Given the description of an element on the screen output the (x, y) to click on. 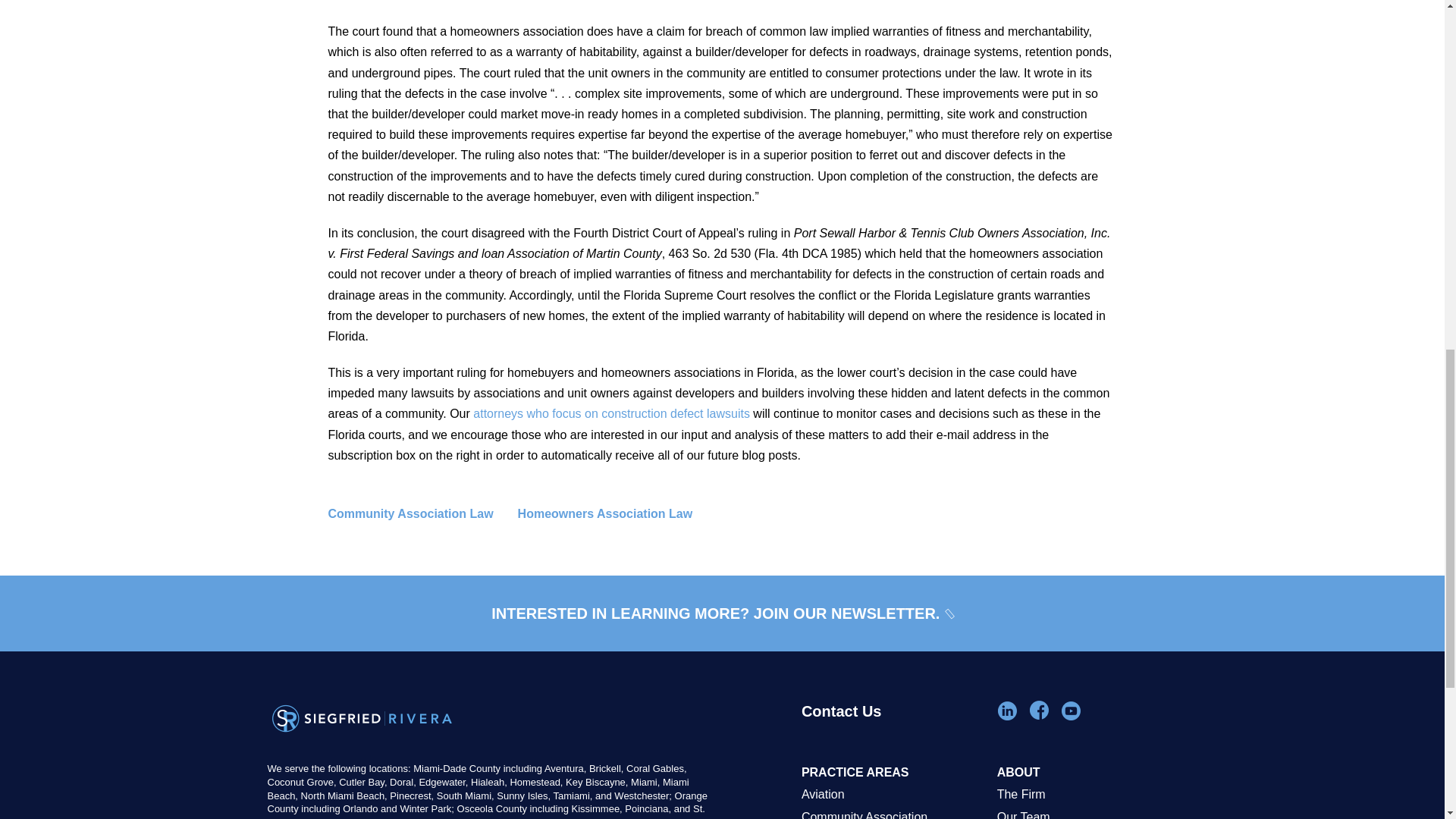
attorneys who focus on construction defect lawsuits (611, 413)
Community Association (891, 812)
Aviation (891, 793)
Homeowners Association Law (617, 514)
Community Association Law (421, 514)
Contact Us (891, 731)
